Given the description of an element on the screen output the (x, y) to click on. 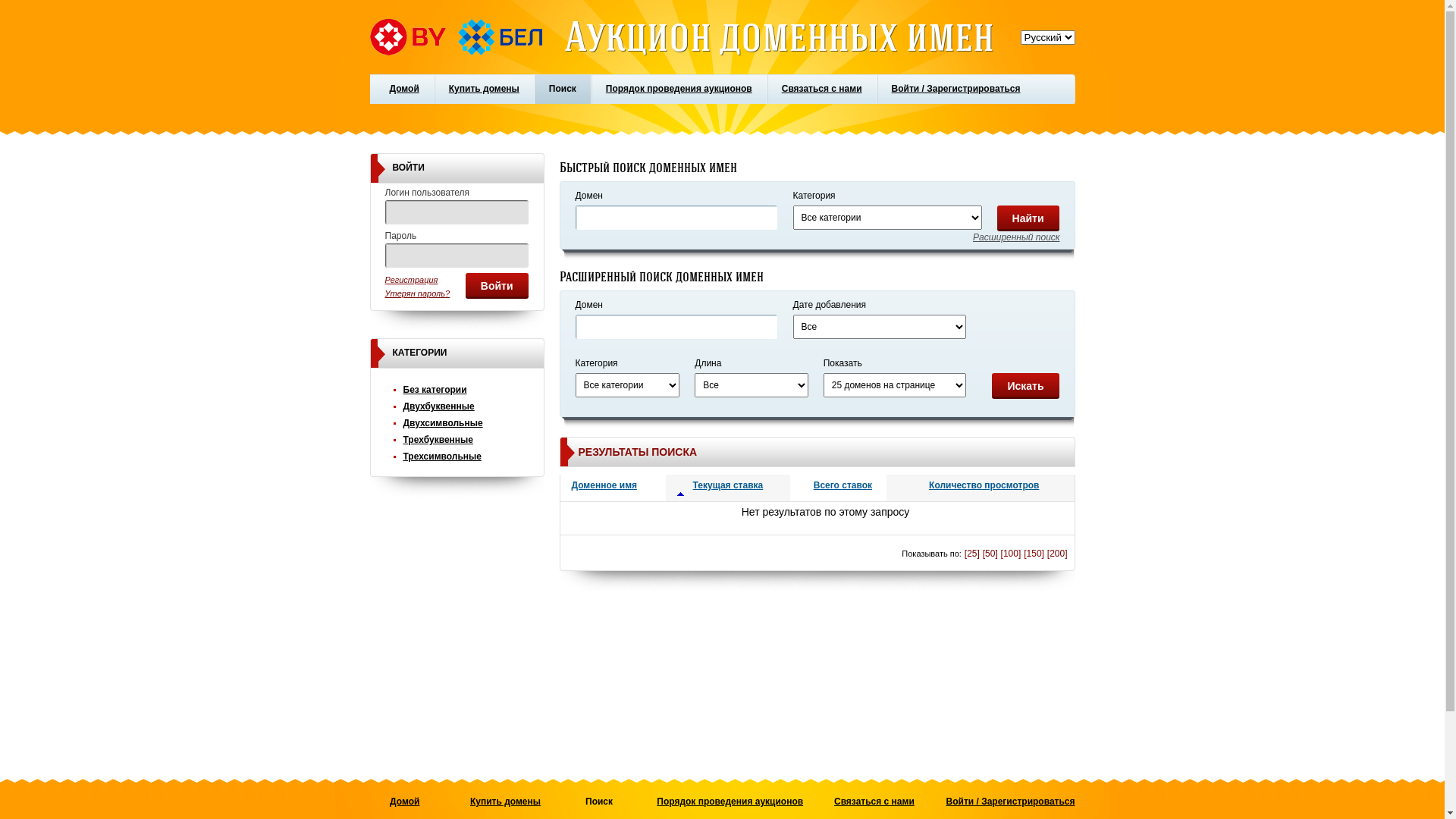
[200] Element type: text (1057, 553)
[150] Element type: text (1033, 553)
[50] Element type: text (989, 553)
[100] Element type: text (1011, 553)
[25] Element type: text (971, 553)
auction.cctld.by Element type: hover (456, 36)
